Given the description of an element on the screen output the (x, y) to click on. 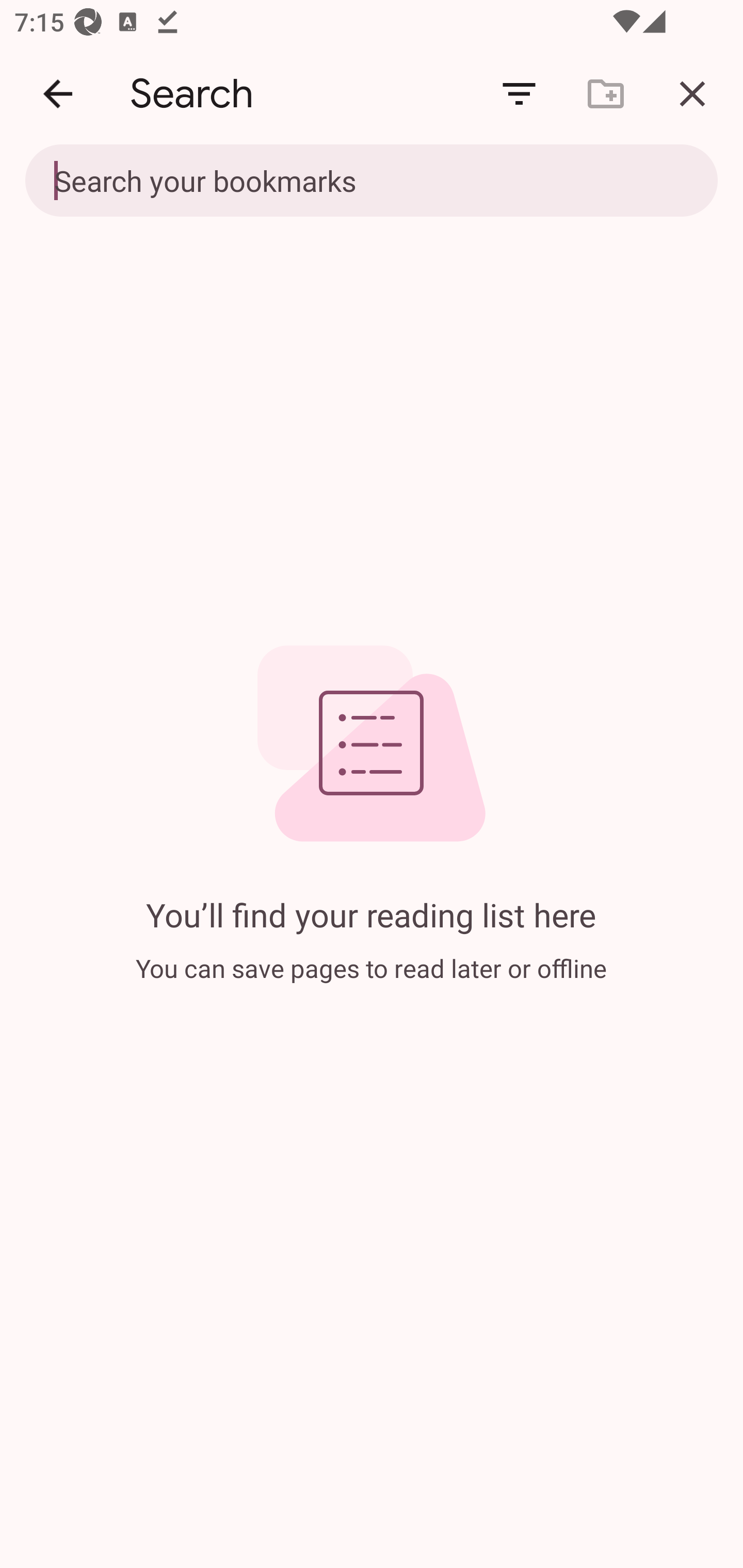
Go back (57, 93)
Sort and view options (518, 93)
Create new folder (605, 93)
Close dialog (692, 93)
Search your bookmarks (371, 181)
